Given the description of an element on the screen output the (x, y) to click on. 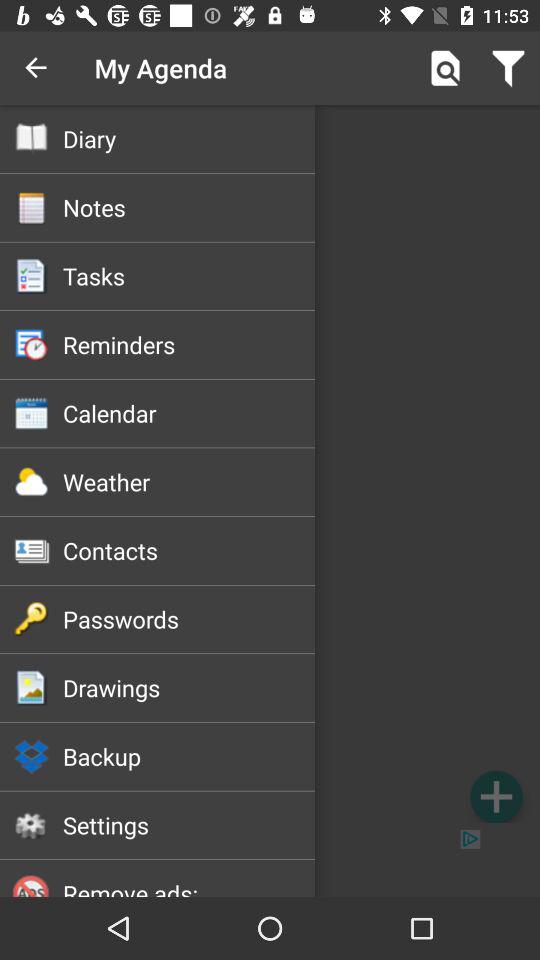
swipe to the tasks item (188, 276)
